Given the description of an element on the screen output the (x, y) to click on. 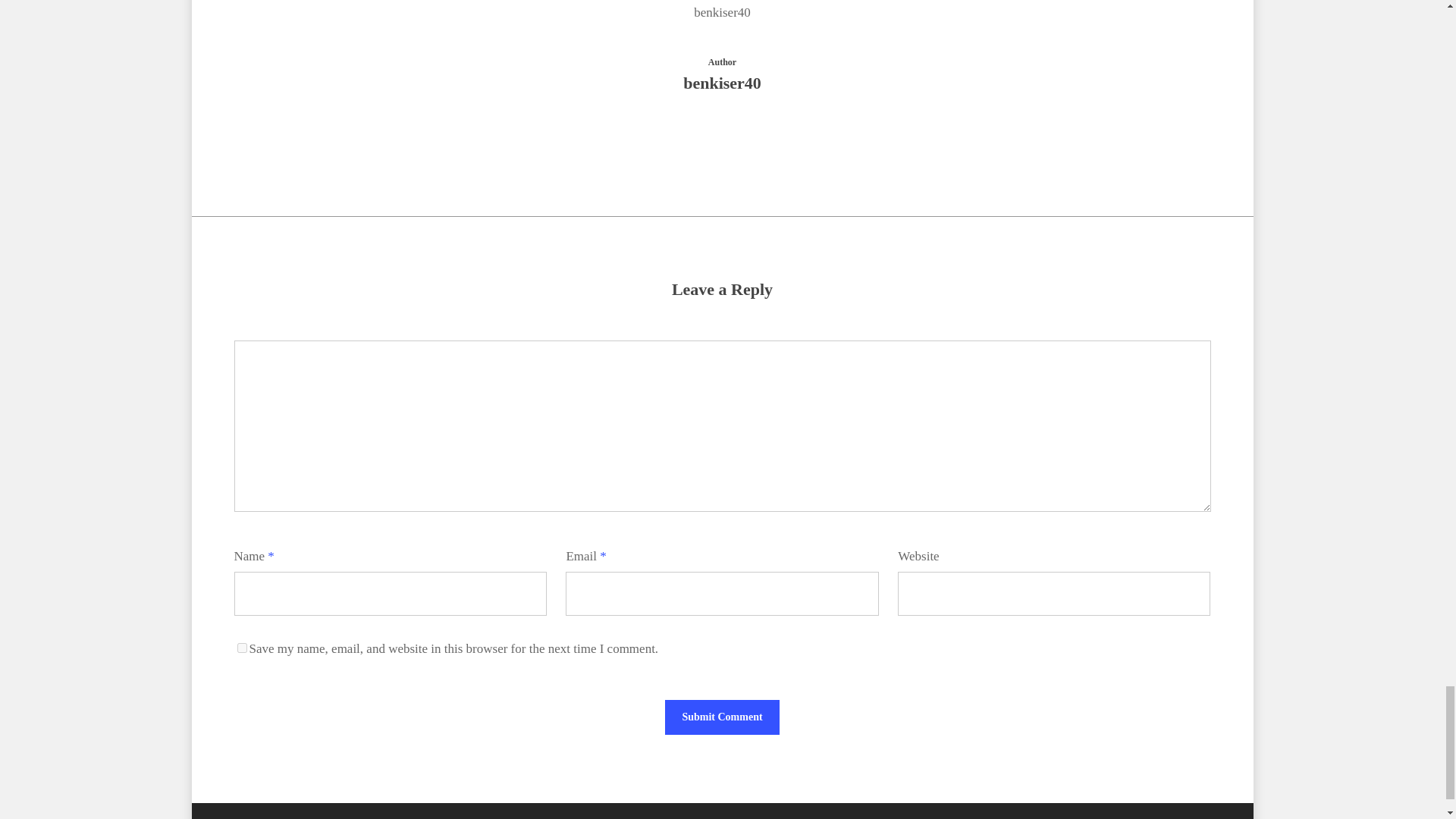
yes (240, 647)
More posts by benkiser40 (721, 135)
Submit Comment (721, 717)
Submit Comment (721, 717)
